Given the description of an element on the screen output the (x, y) to click on. 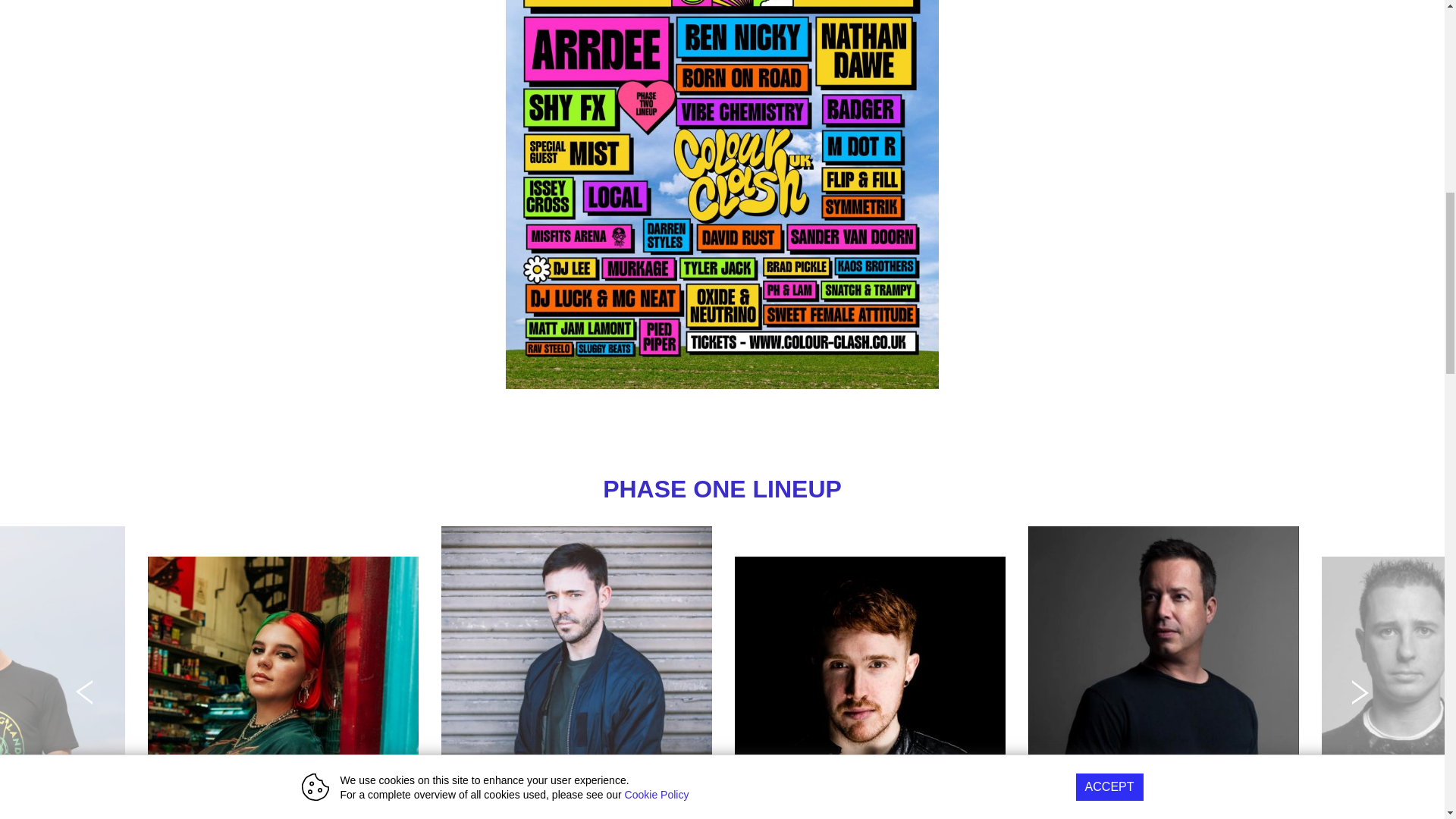
DARREN STYLES (576, 665)
SANDER VAN DOORN (1162, 665)
DAVID RUST (870, 687)
ISSEY CROSS (283, 687)
